Given the description of an element on the screen output the (x, y) to click on. 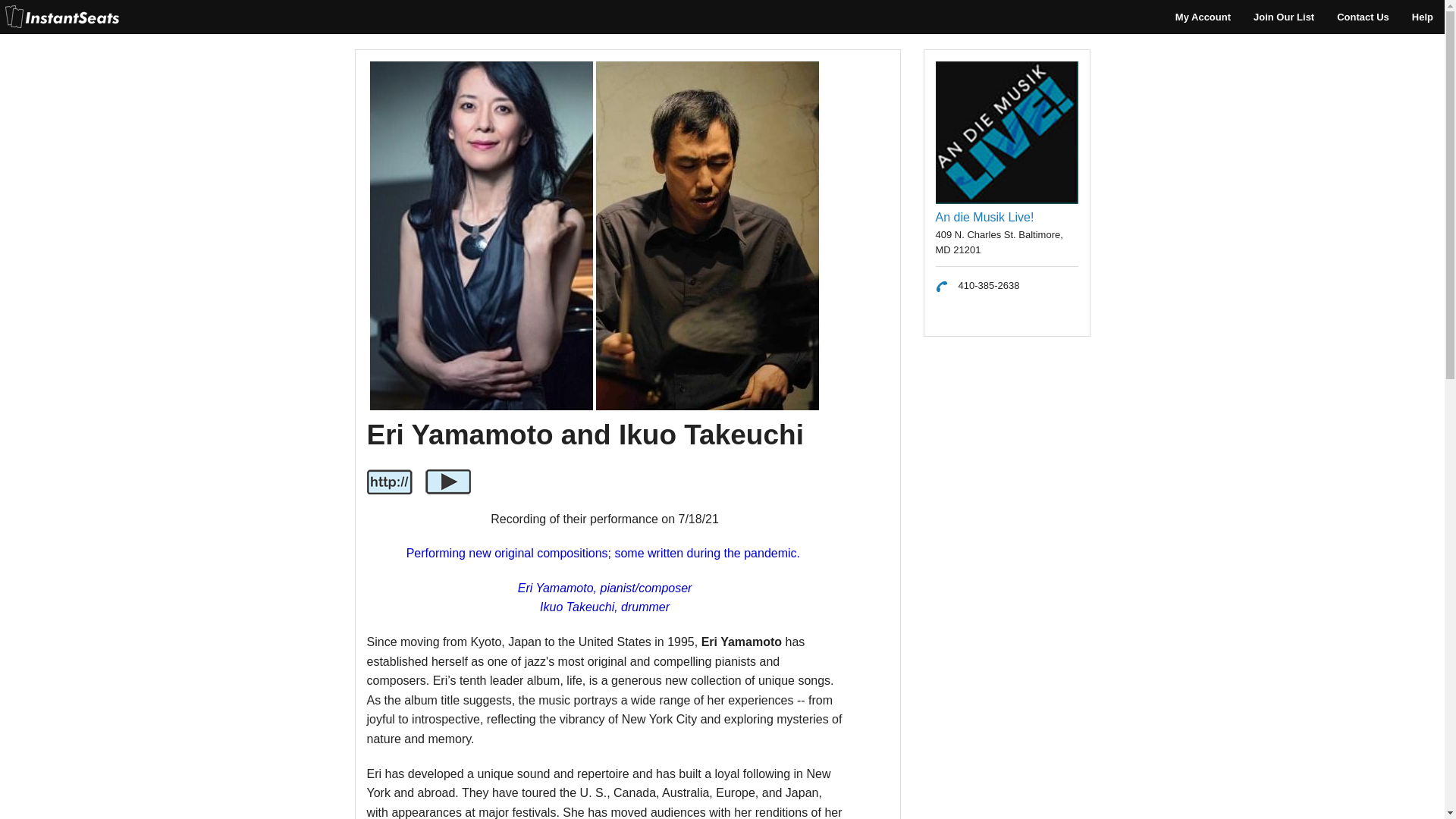
Video (447, 481)
Join Our List (1282, 17)
Website (389, 481)
An die Musik Live! (984, 216)
My Account (1202, 17)
Contact Us (1362, 17)
